Given the description of an element on the screen output the (x, y) to click on. 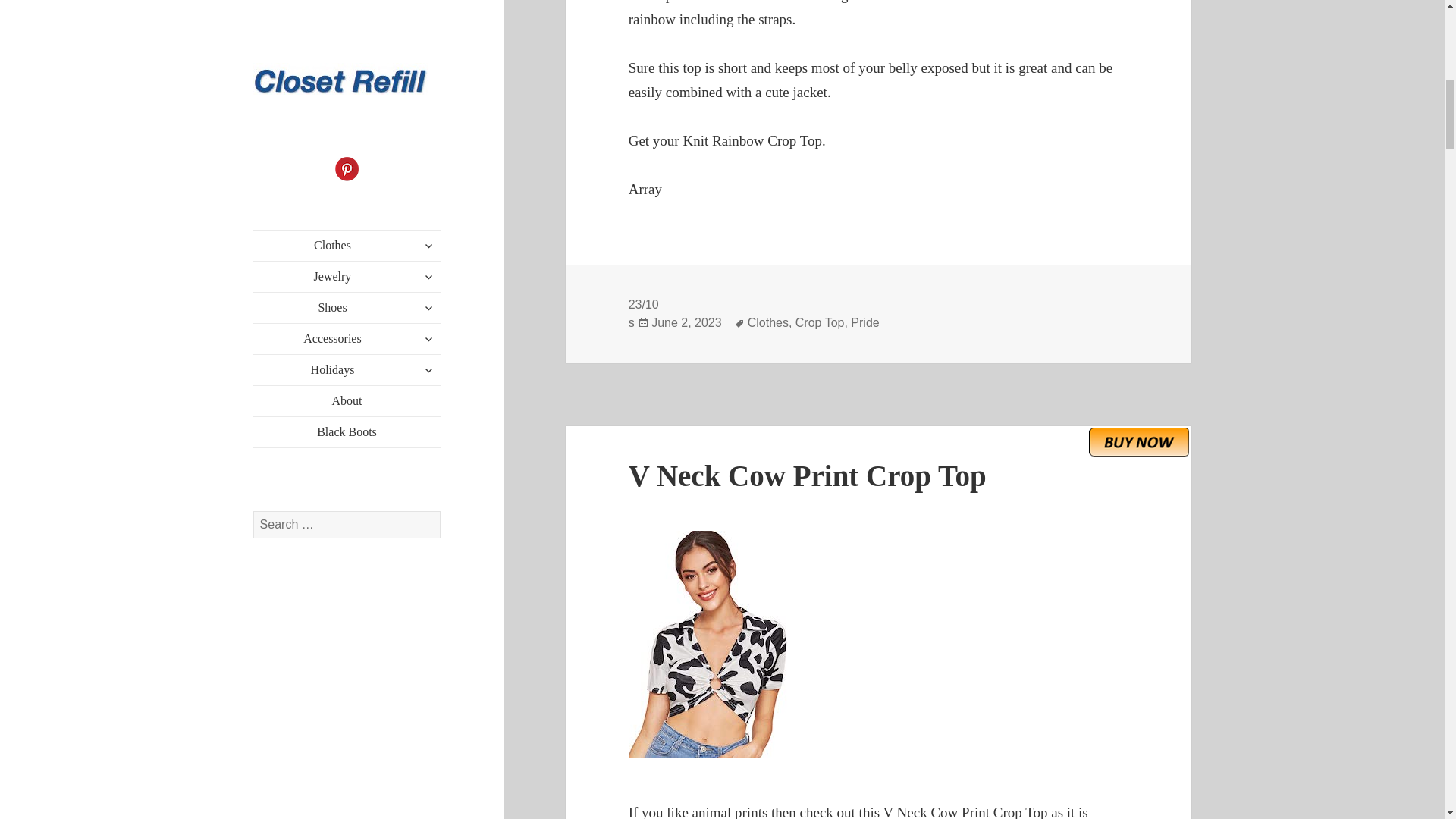
buy V Neck Cow Print Crop Top (1139, 441)
